Given the description of an element on the screen output the (x, y) to click on. 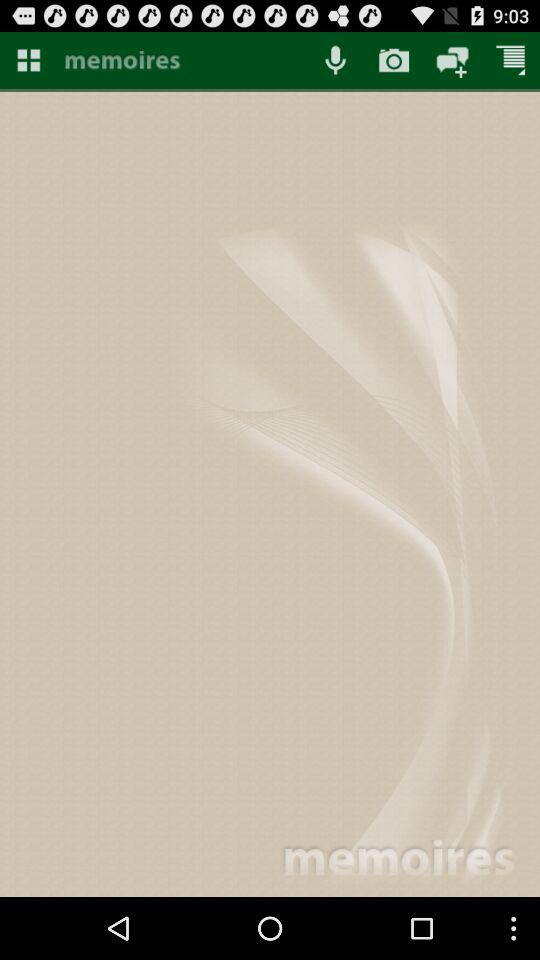
access camera (394, 60)
